Given the description of an element on the screen output the (x, y) to click on. 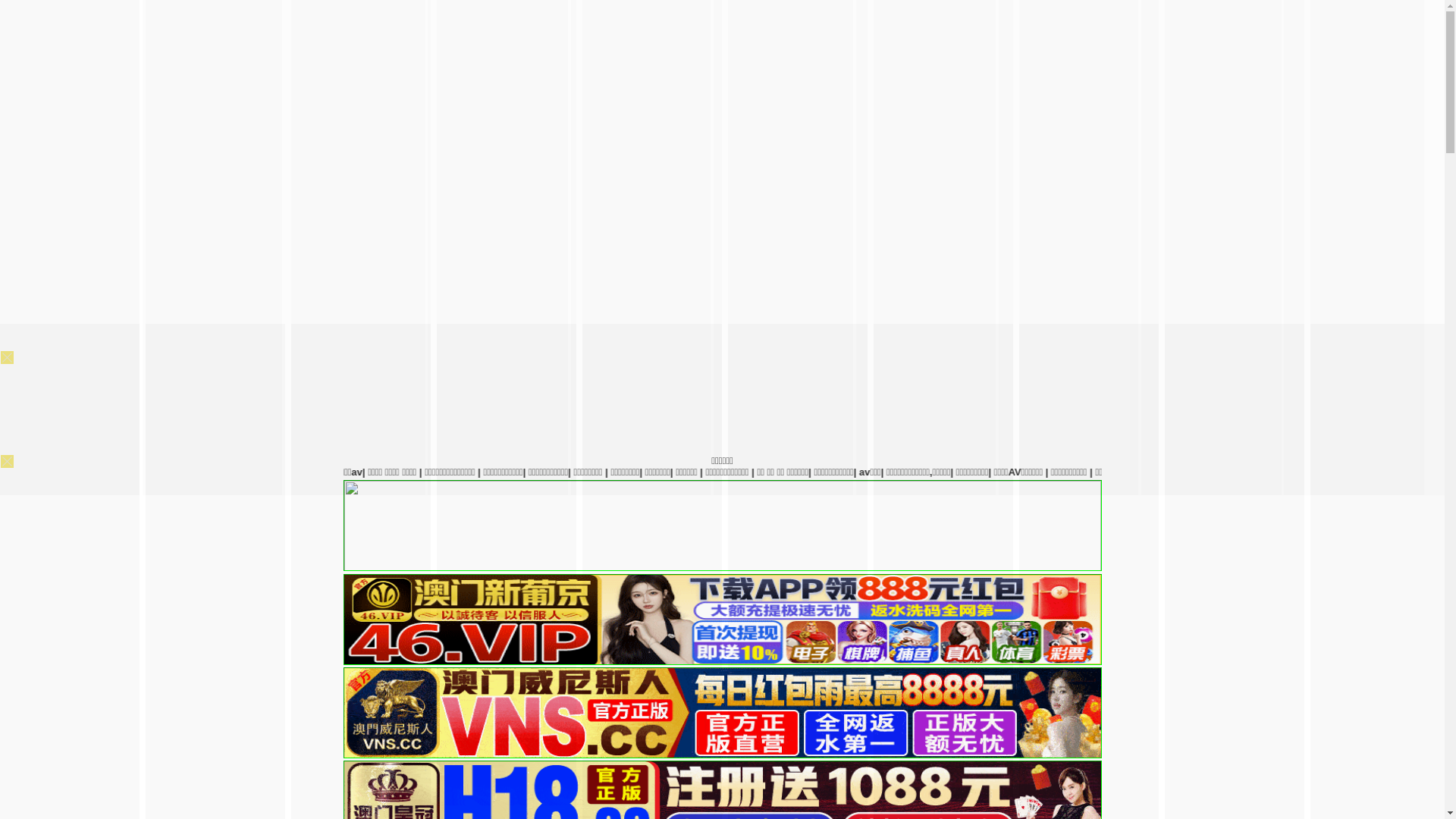
| Element type: text (846, 471)
| Element type: text (806, 471)
| Element type: text (955, 471)
| Element type: text (1044, 471)
| Element type: text (720, 471)
| Element type: text (681, 471)
| Element type: text (1186, 471)
| Element type: text (1278, 471)
| Element type: text (1224, 471)
| Element type: text (656, 471)
| Element type: text (1422, 471)
| Element type: text (908, 471)
| Element type: text (1378, 471)
| Element type: text (766, 471)
| Element type: text (1093, 471)
| Element type: text (1151, 471)
| Element type: text (1002, 471)
| Element type: text (1335, 471)
